Given the description of an element on the screen output the (x, y) to click on. 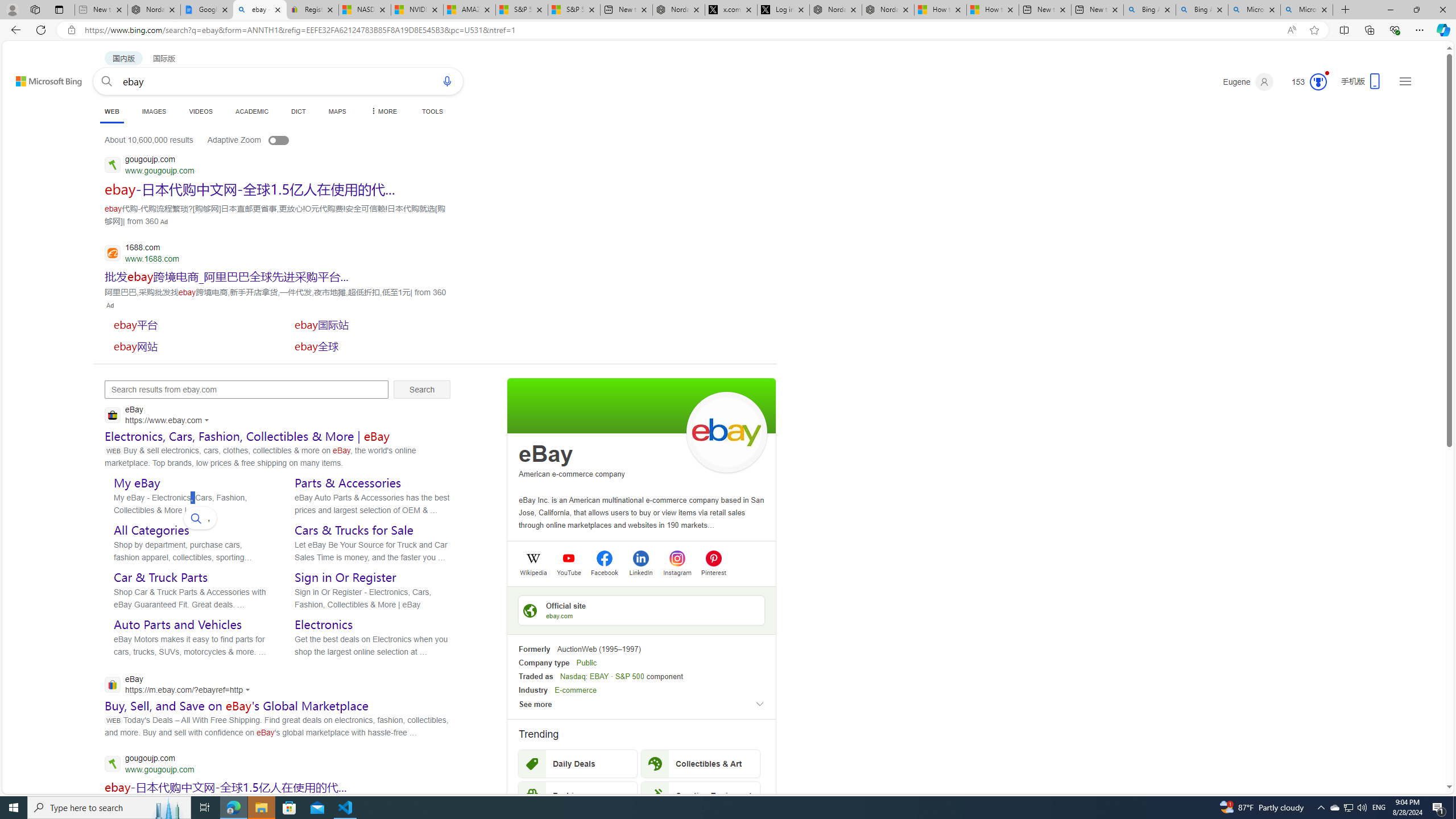
Instagram (676, 571)
LinkedIn (640, 571)
How to Use a Monitor With Your Closed Laptop (992, 9)
WEB (111, 111)
Settings and quick links (1404, 80)
